Given the description of an element on the screen output the (x, y) to click on. 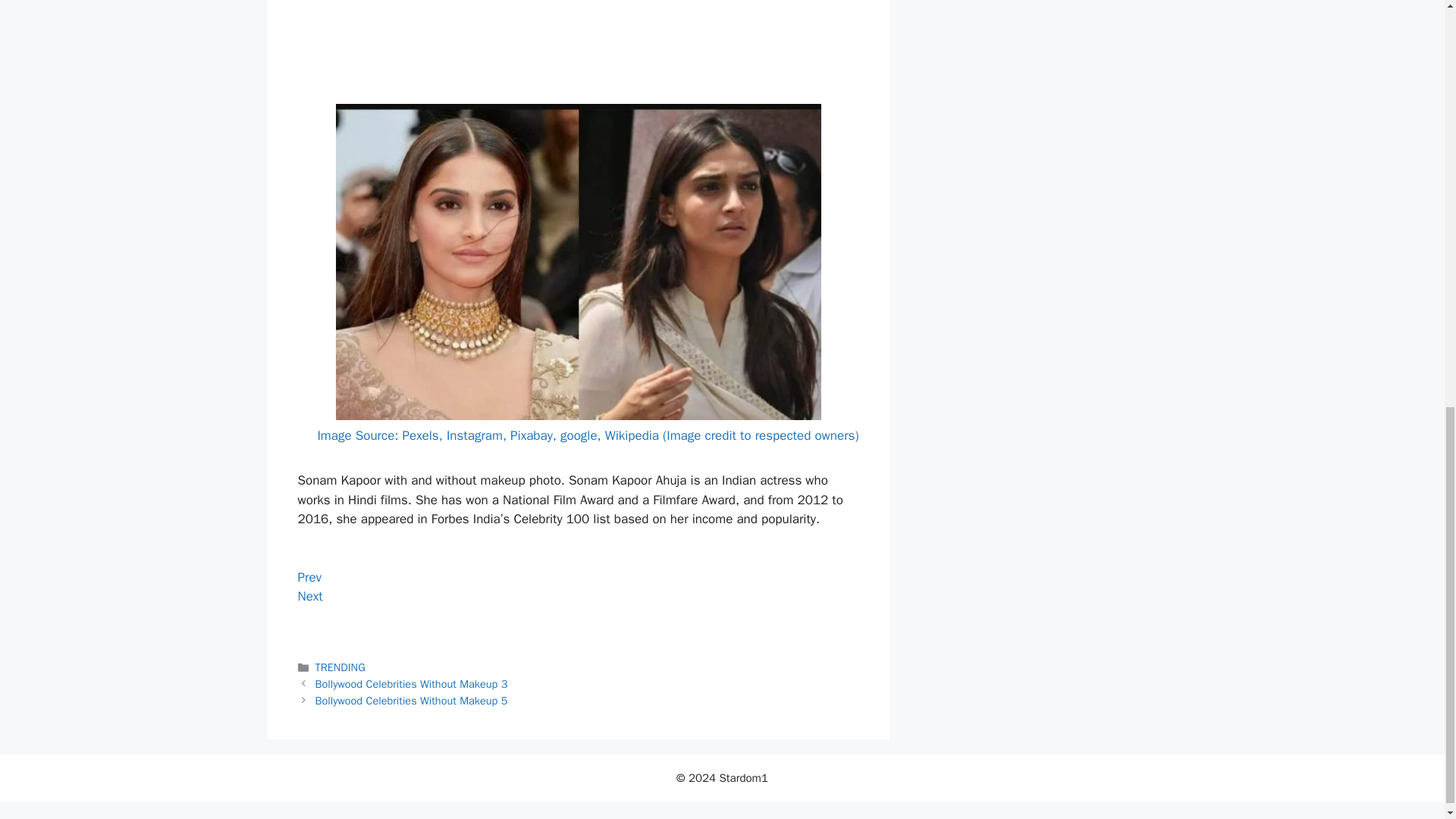
Bollywood Celebrities Without Makeup 5 (411, 700)
Next (309, 596)
Bollywood Celebrities Without Makeup 3 (411, 684)
Advertisement (578, 48)
TRENDING (340, 667)
